Given the description of an element on the screen output the (x, y) to click on. 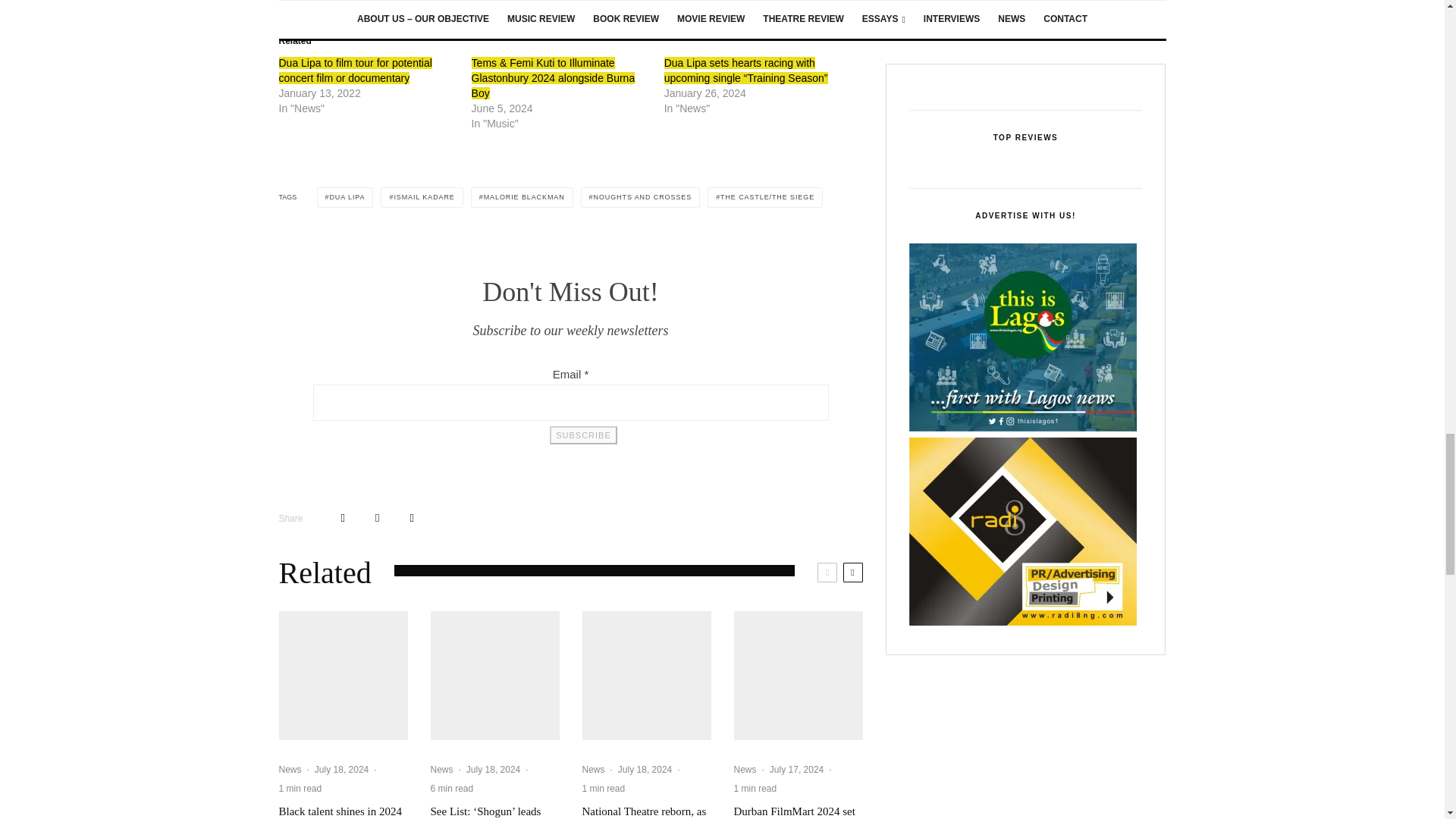
Subscribe (582, 434)
